Given the description of an element on the screen output the (x, y) to click on. 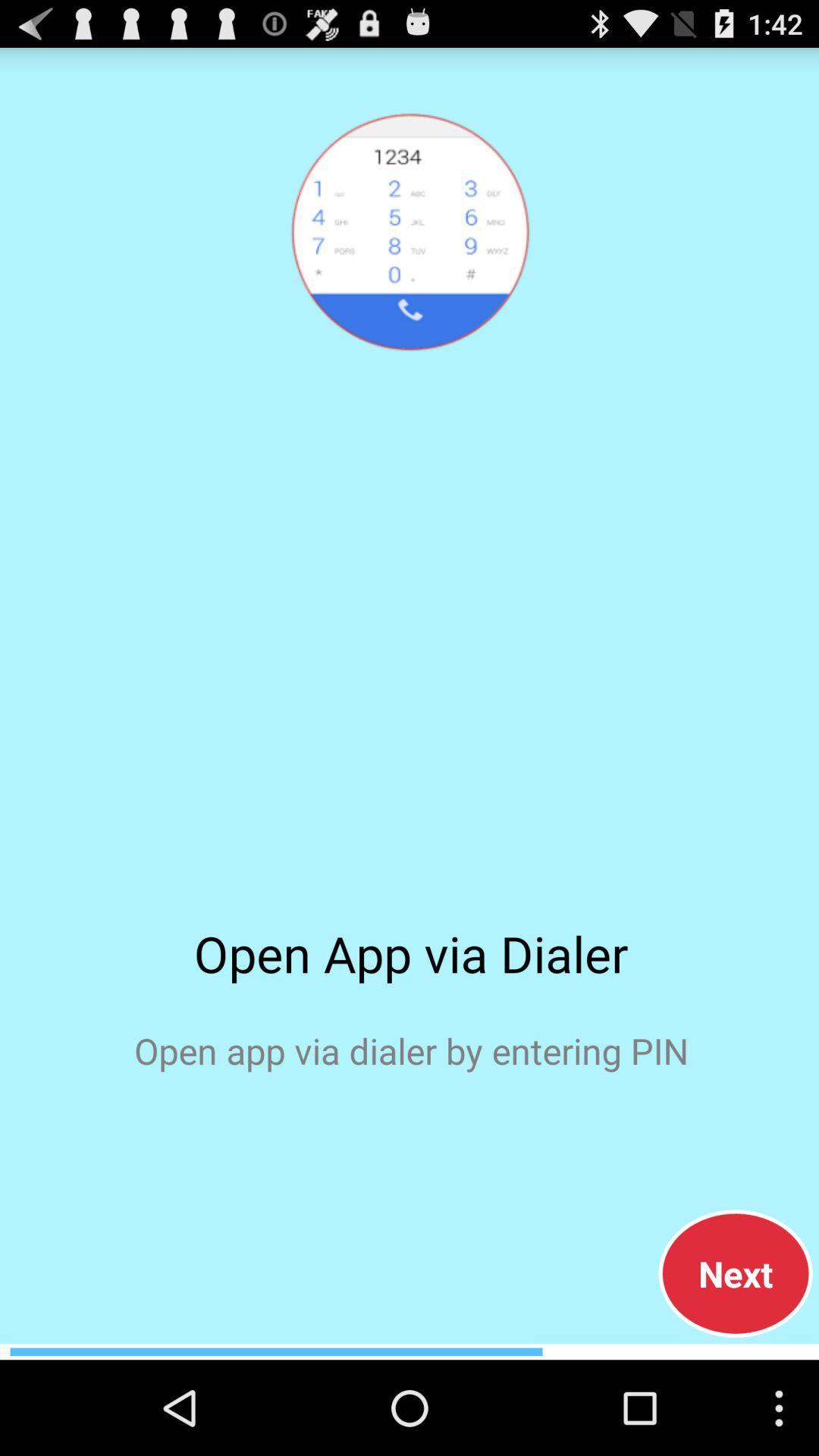
swipe to the next item (735, 1273)
